Given the description of an element on the screen output the (x, y) to click on. 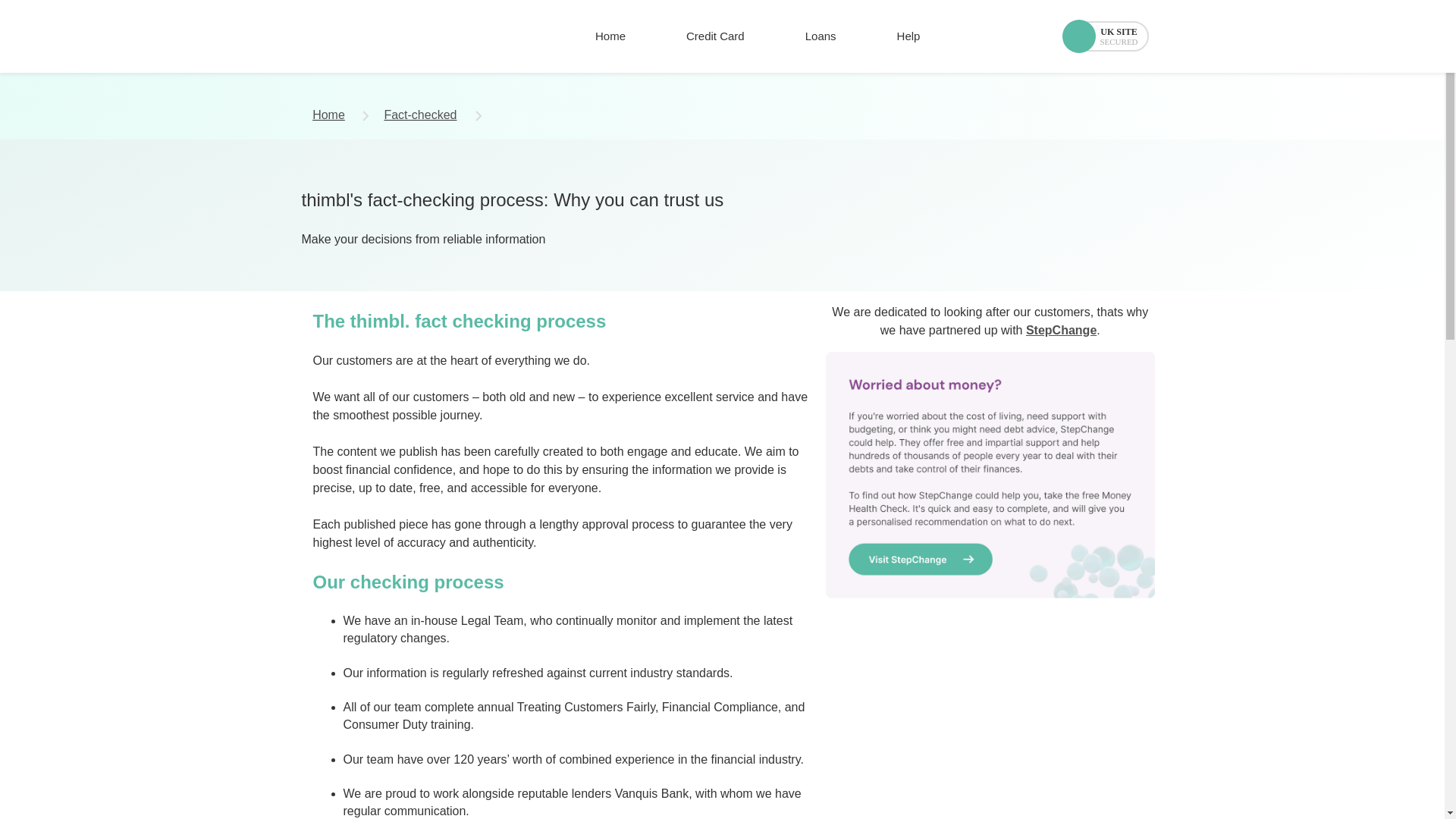
Help (908, 36)
Credit Card (715, 36)
Home (610, 36)
Loans (820, 36)
